Given the description of an element on the screen output the (x, y) to click on. 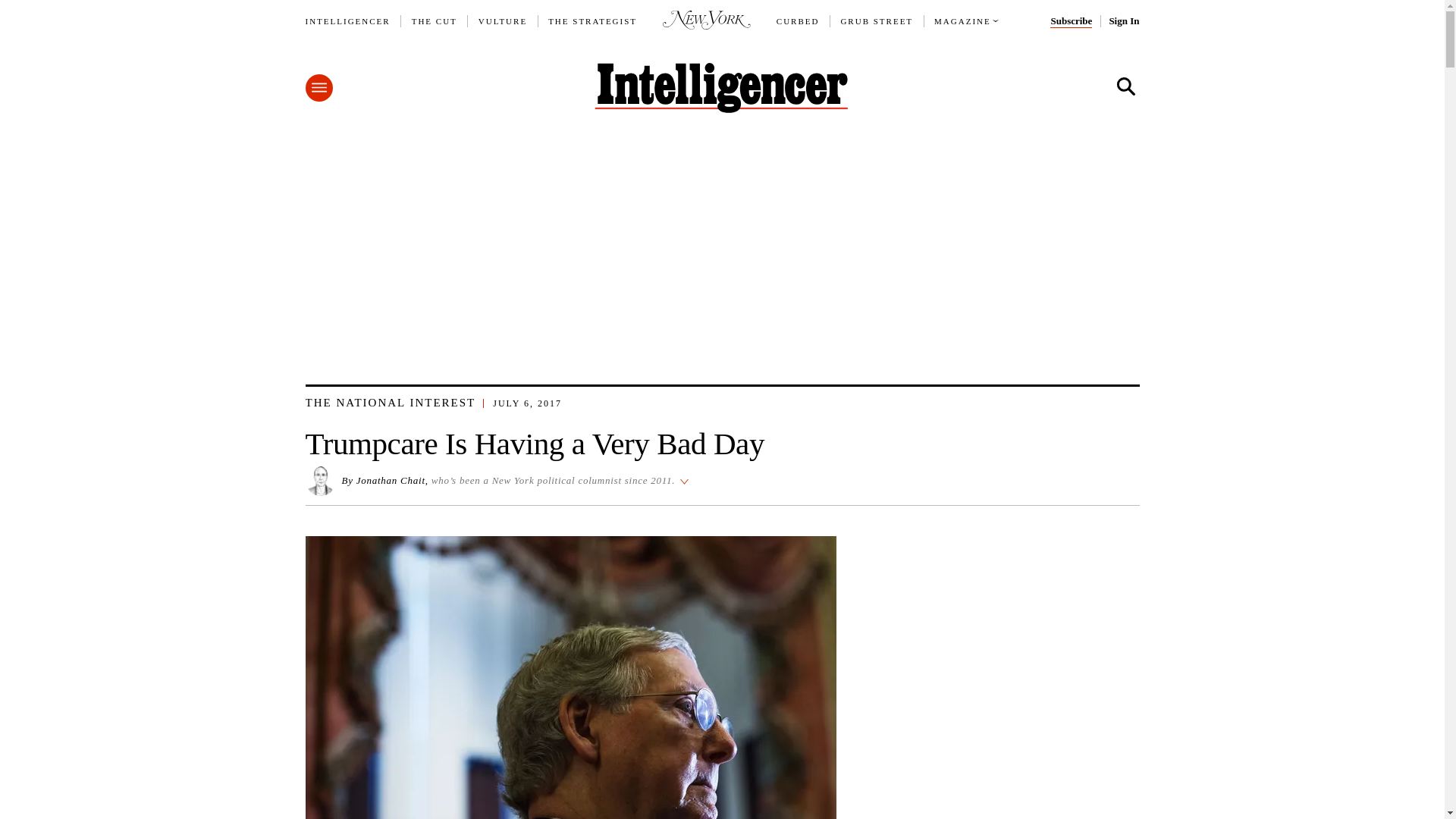
Menu (317, 87)
THE CUT (434, 21)
Subscribe (1070, 21)
CURBED (797, 21)
THE STRATEGIST (592, 21)
GRUB STREET (876, 21)
Search (1124, 86)
VULTURE (503, 21)
MAGAZINE (962, 21)
Search (1124, 86)
